Given the description of an element on the screen output the (x, y) to click on. 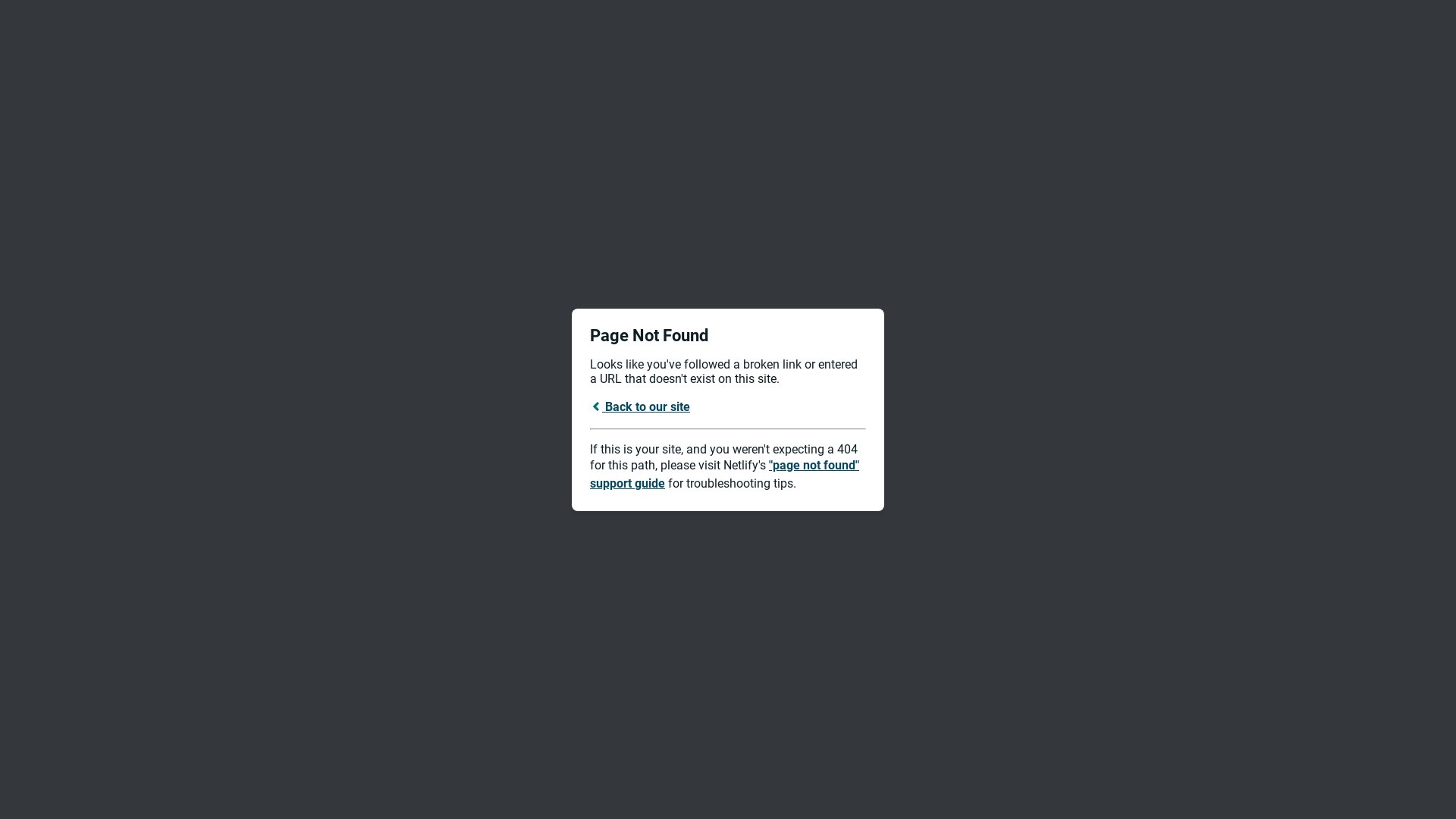
"page not found" support guide Element type: text (724, 474)
Back to our site Element type: text (639, 405)
